Given the description of an element on the screen output the (x, y) to click on. 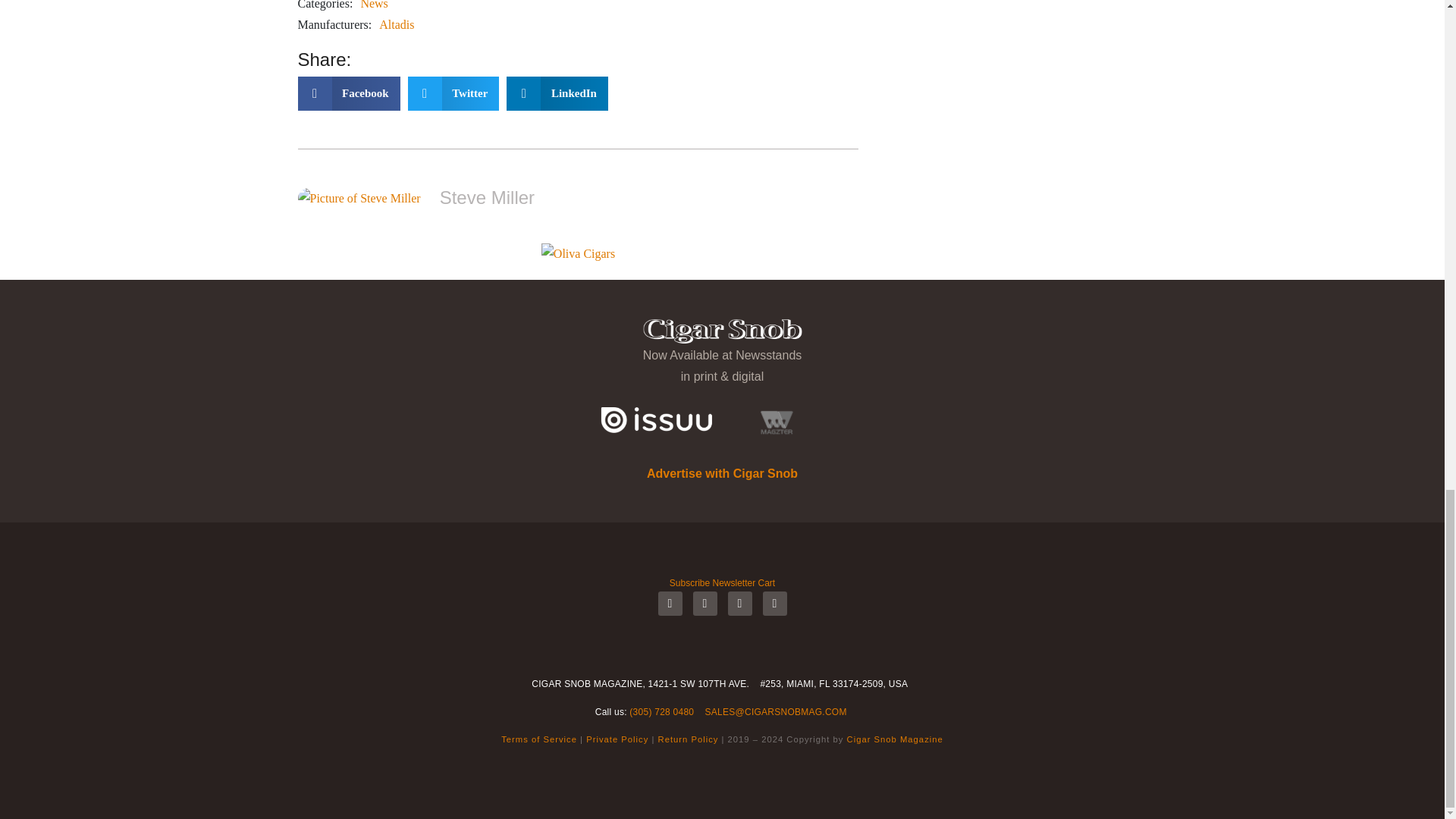
Oliva Cigars (577, 253)
